Given the description of an element on the screen output the (x, y) to click on. 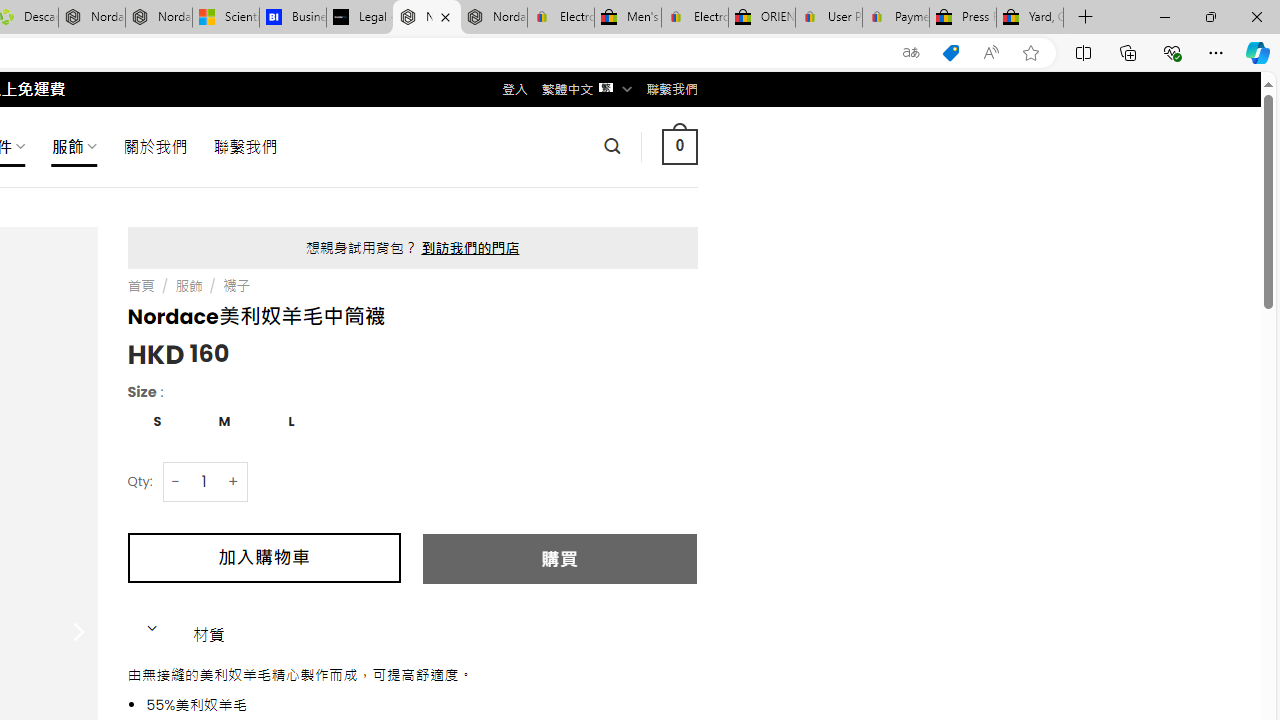
 0  (679, 146)
